Given the description of an element on the screen output the (x, y) to click on. 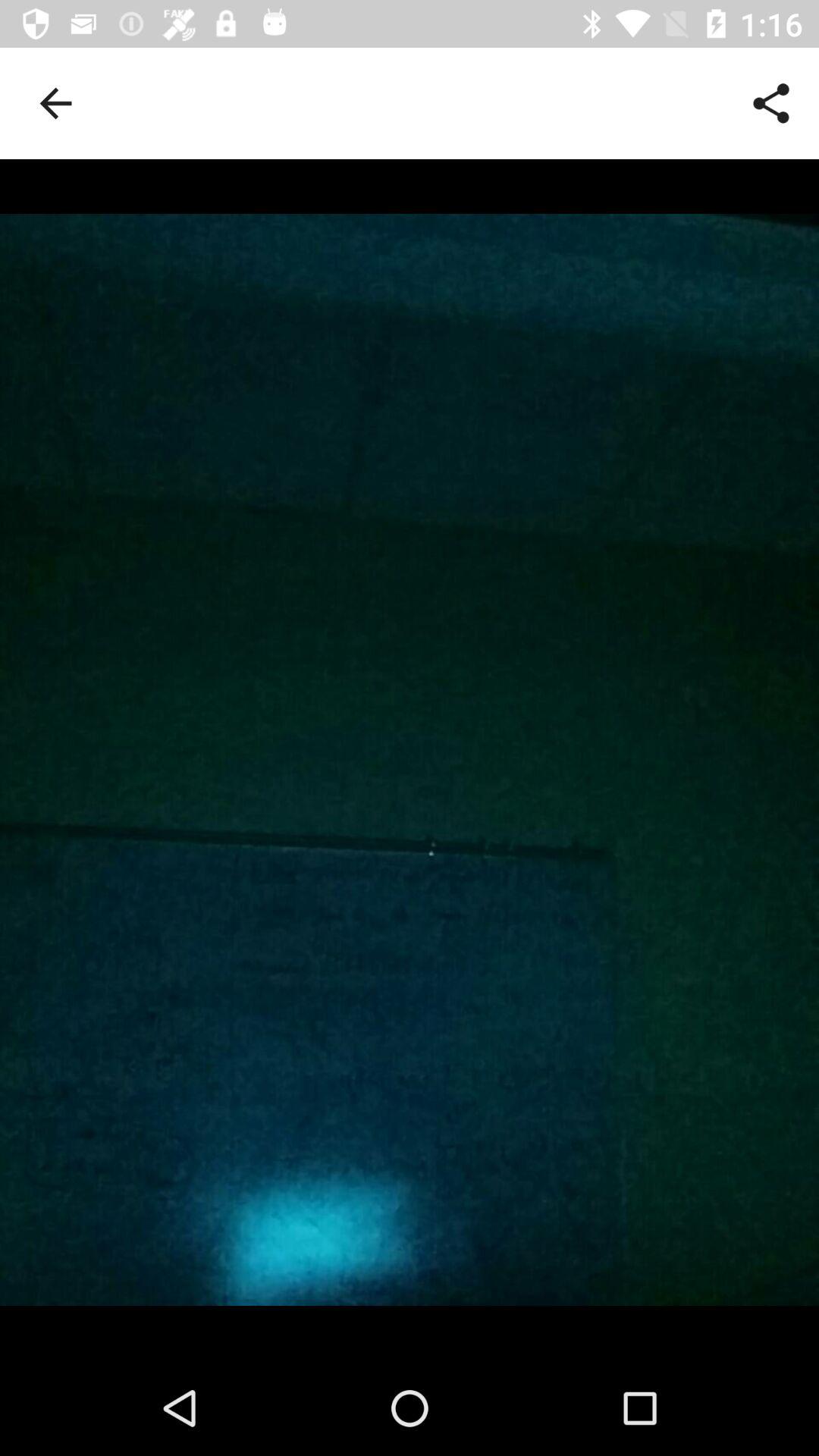
click icon at the top right corner (771, 103)
